Given the description of an element on the screen output the (x, y) to click on. 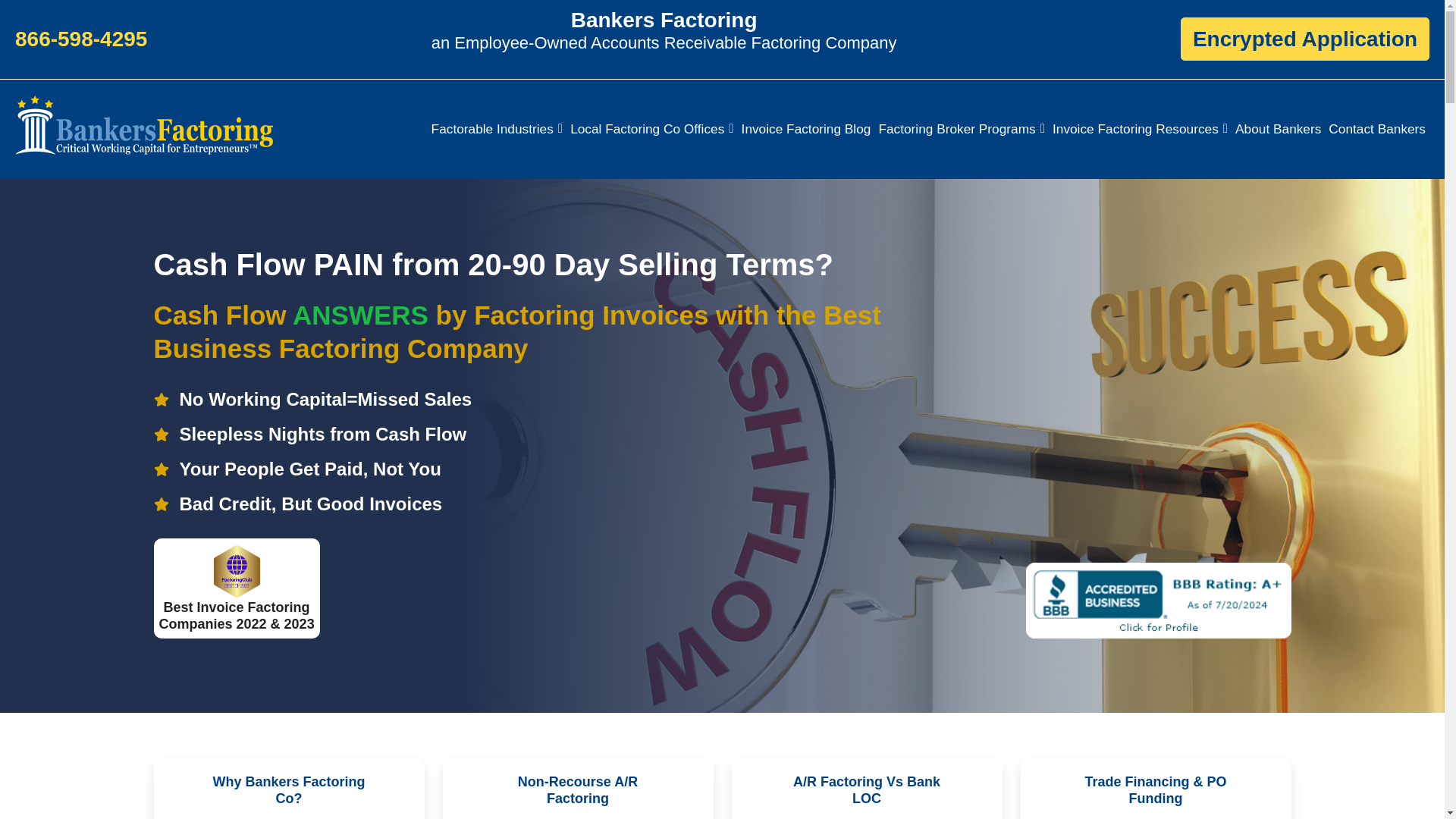
Local Factoring Co Offices (651, 128)
Encrypted Application (1304, 38)
Factorable Industries (497, 128)
866-598-4295 (80, 39)
